Given the description of an element on the screen output the (x, y) to click on. 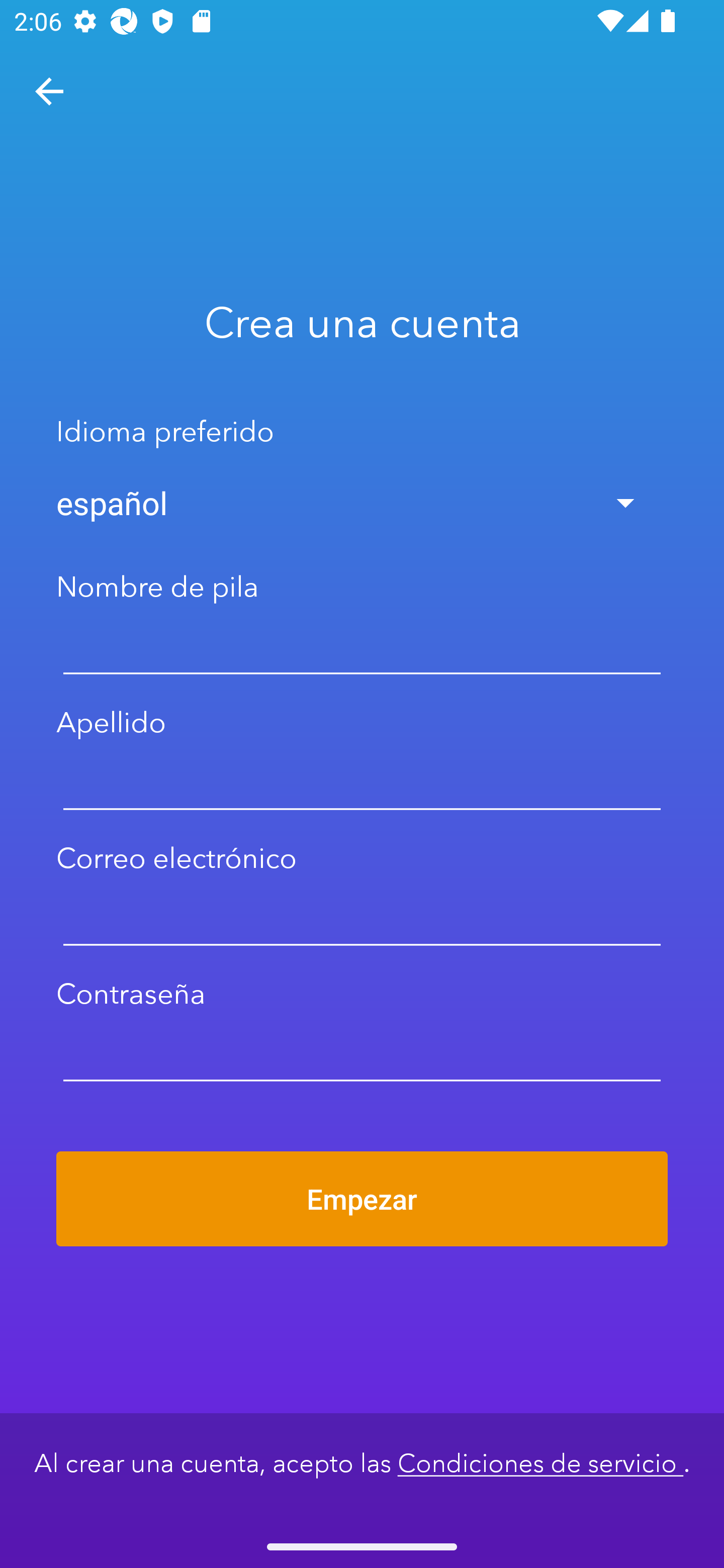
Navegar hacia arriba (49, 91)
español (361, 502)
Empezar (361, 1198)
